Given the description of an element on the screen output the (x, y) to click on. 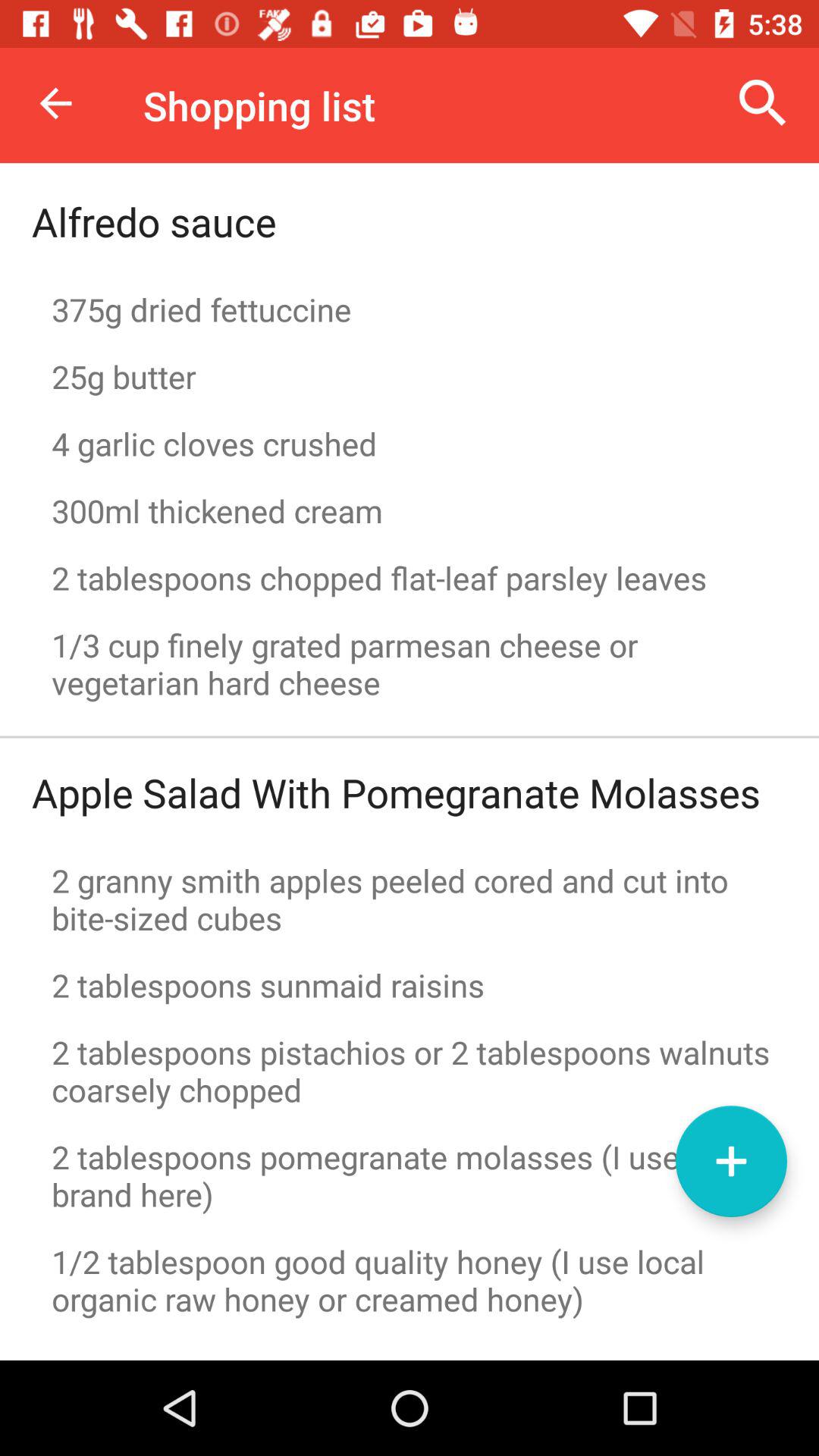
flip until 4 garlic cloves icon (409, 443)
